Given the description of an element on the screen output the (x, y) to click on. 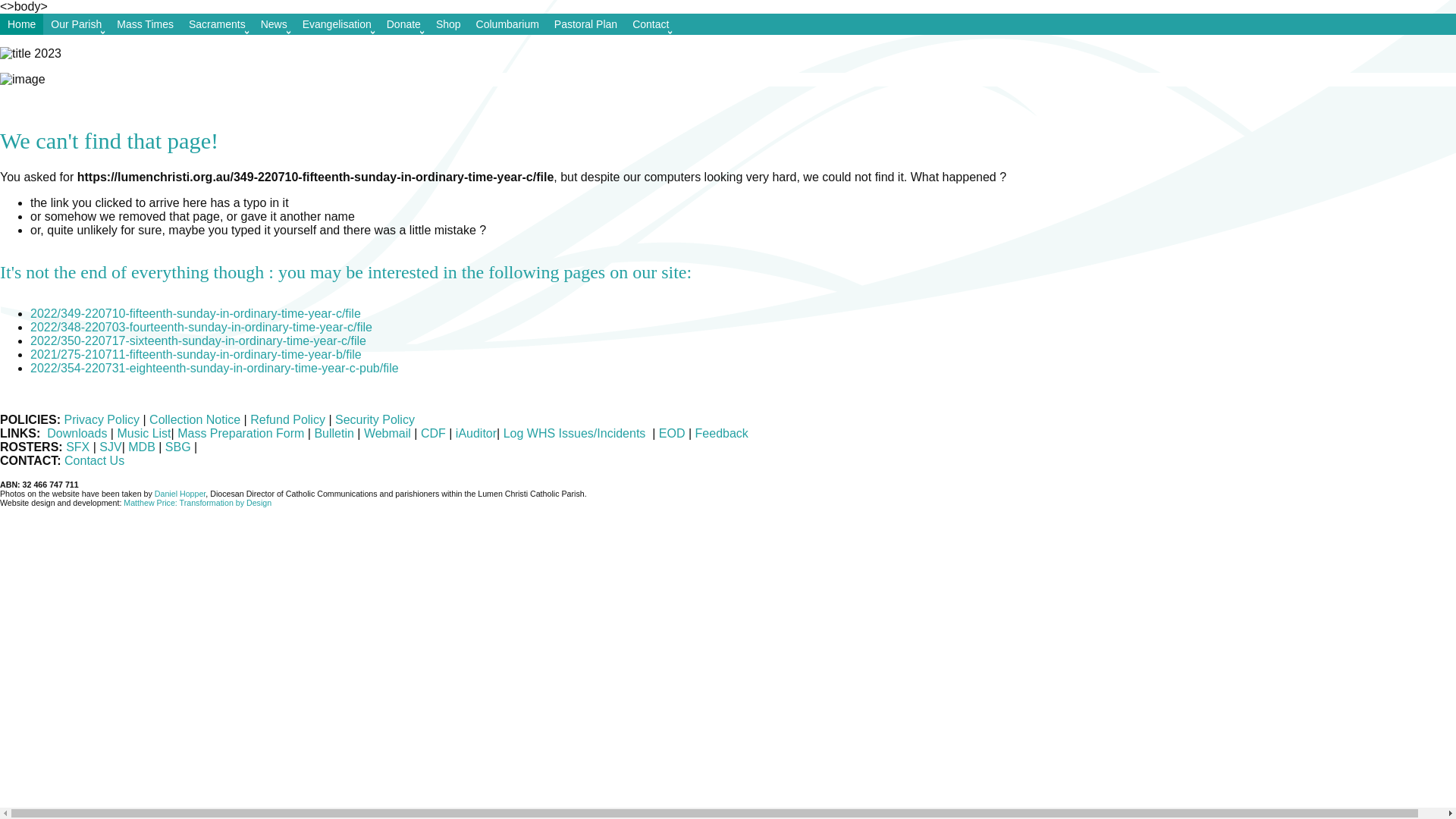
MDB Element type: text (141, 446)
Our Parish
  Element type: text (76, 23)
Refund Policy Element type: text (289, 419)
Matthew Price: Transformation by Design Element type: text (197, 502)
Mass Times Element type: text (145, 23)
SBG  Element type: text (179, 446)
Columbarium Element type: text (507, 23)
Mass Preparation Form Element type: text (240, 432)
Downloads Element type: text (76, 432)
Feedback Element type: text (719, 432)
Bulletin Element type: text (333, 432)
Webmail Element type: text (387, 432)
Shop Element type: text (448, 23)
SFX Element type: text (77, 446)
Log WHS Issues/Incidents  Element type: text (576, 432)
SJV Element type: text (110, 446)
Security Policy Element type: text (374, 419)
Contact Us Element type: text (94, 460)
Home Element type: text (21, 23)
CDF Element type: text (432, 432)
Donate
  Element type: text (403, 23)
Collection Notice Element type: text (194, 419)
EOD Element type: text (671, 432)
Contact
  Element type: text (650, 23)
Daniel Hopper Element type: text (180, 493)
iAuditor Element type: text (475, 432)
News
  Element type: text (273, 23)
Pastoral Plan Element type: text (585, 23)
Privacy Policy Element type: text (101, 419)
Evangelisation
  Element type: text (336, 23)
Sacraments
  Element type: text (217, 23)
Music List Element type: text (143, 432)
